Given the description of an element on the screen output the (x, y) to click on. 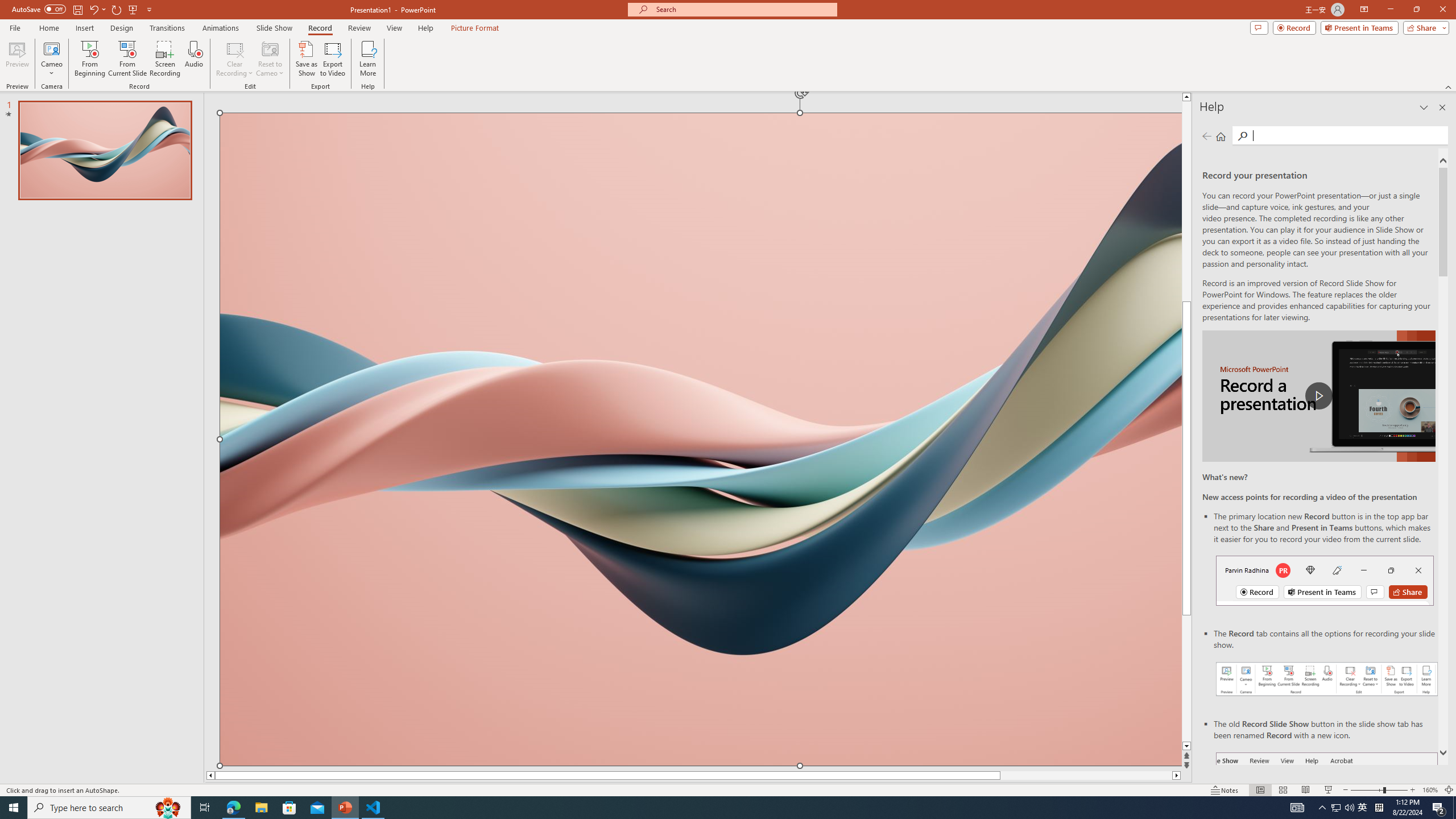
Zoom (1379, 790)
Microsoft search (742, 9)
Slide Show (1328, 790)
Record (320, 28)
System (6, 6)
Ribbon Display Options (1364, 9)
View (395, 28)
Slide Sorter (1282, 790)
Save (77, 9)
Reset to Cameo (269, 58)
Zoom 160% (1430, 790)
AutoSave (38, 9)
Screen Recording (165, 58)
